Given the description of an element on the screen output the (x, y) to click on. 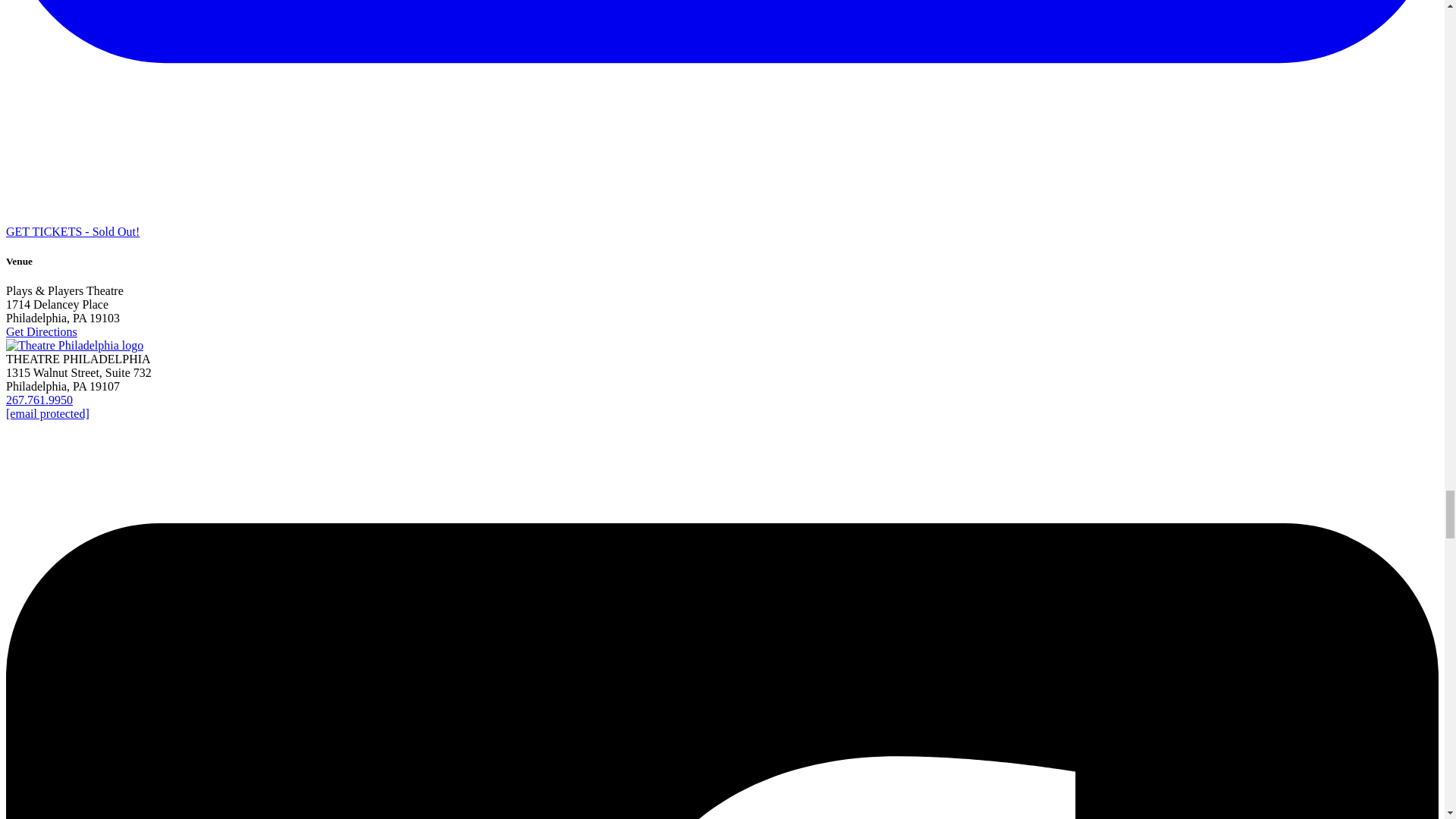
Get Directions (41, 331)
267.761.9950 (38, 399)
